Given the description of an element on the screen output the (x, y) to click on. 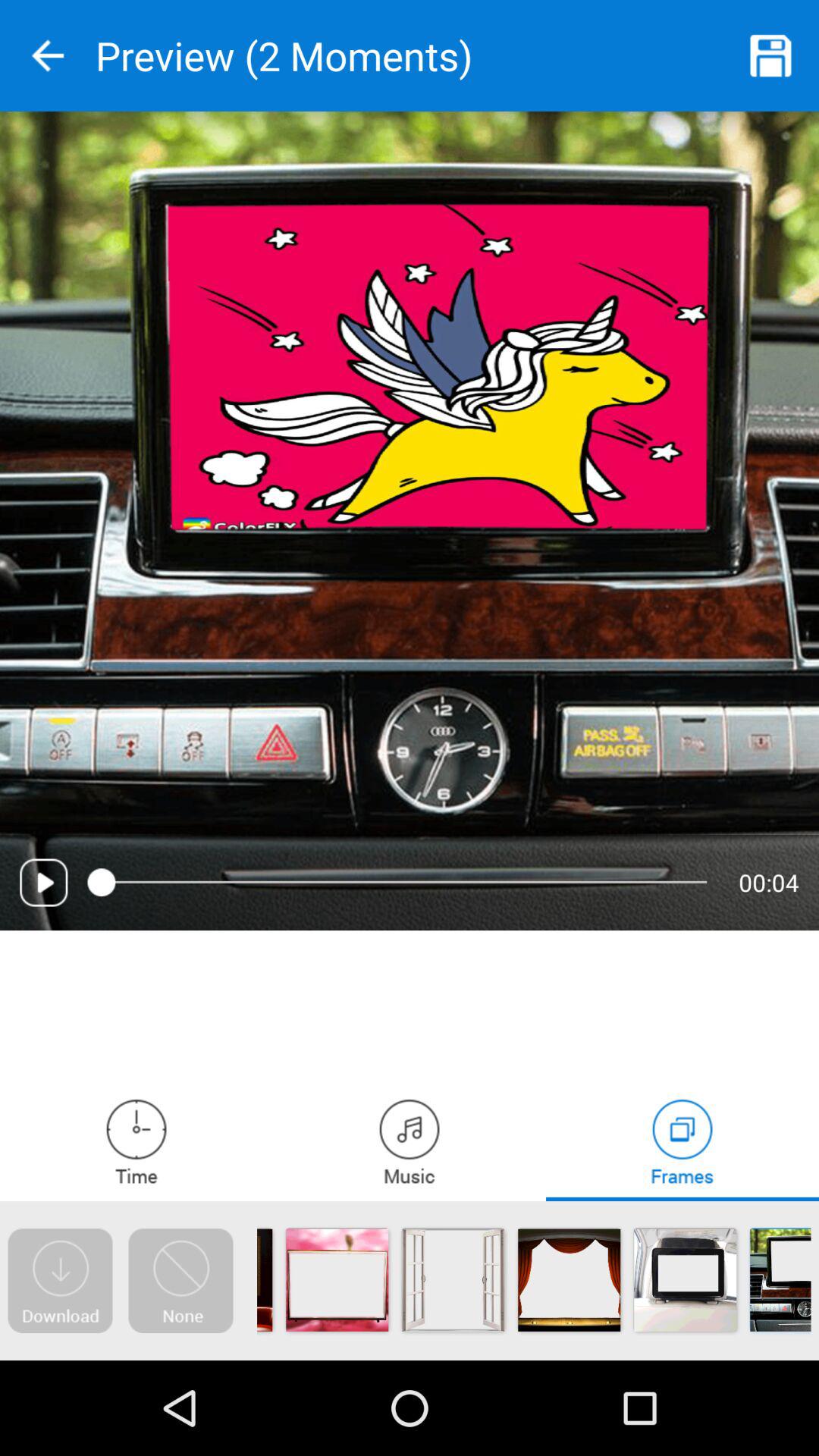
music (409, 1141)
